Given the description of an element on the screen output the (x, y) to click on. 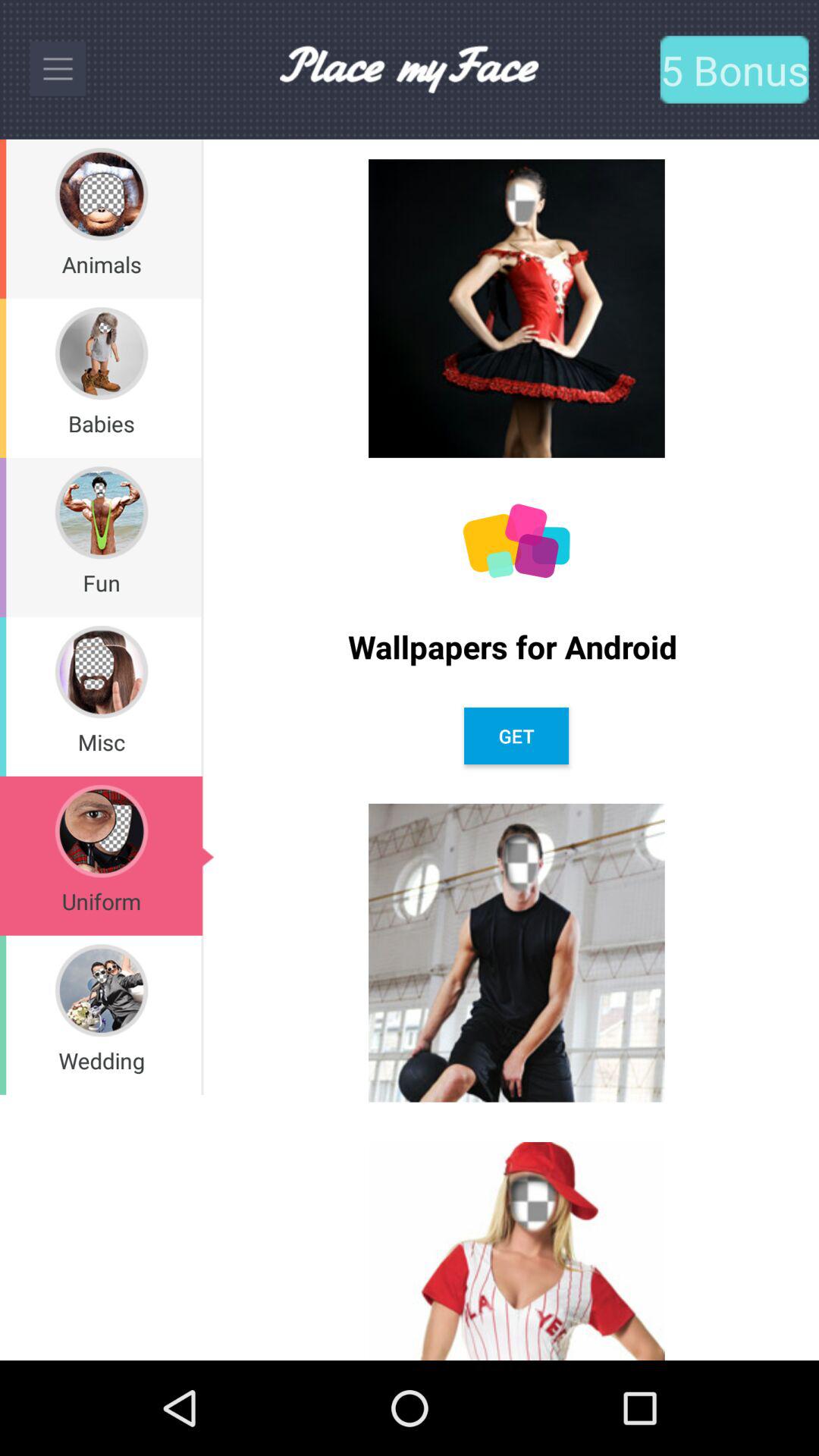
launch the button above get (516, 646)
